Given the description of an element on the screen output the (x, y) to click on. 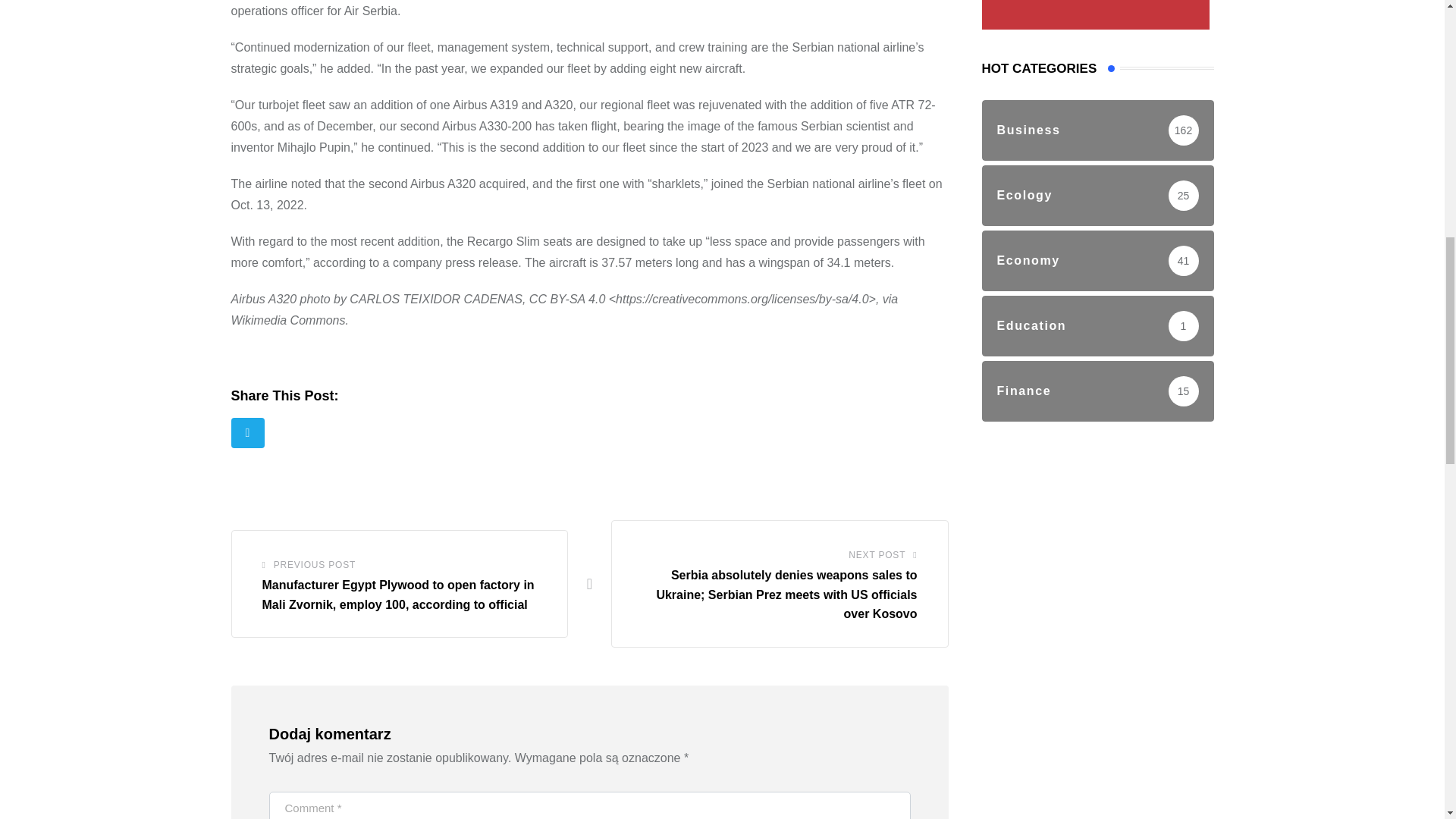
NEXT POST (876, 554)
PREVIOUS POST (314, 564)
